Given the description of an element on the screen output the (x, y) to click on. 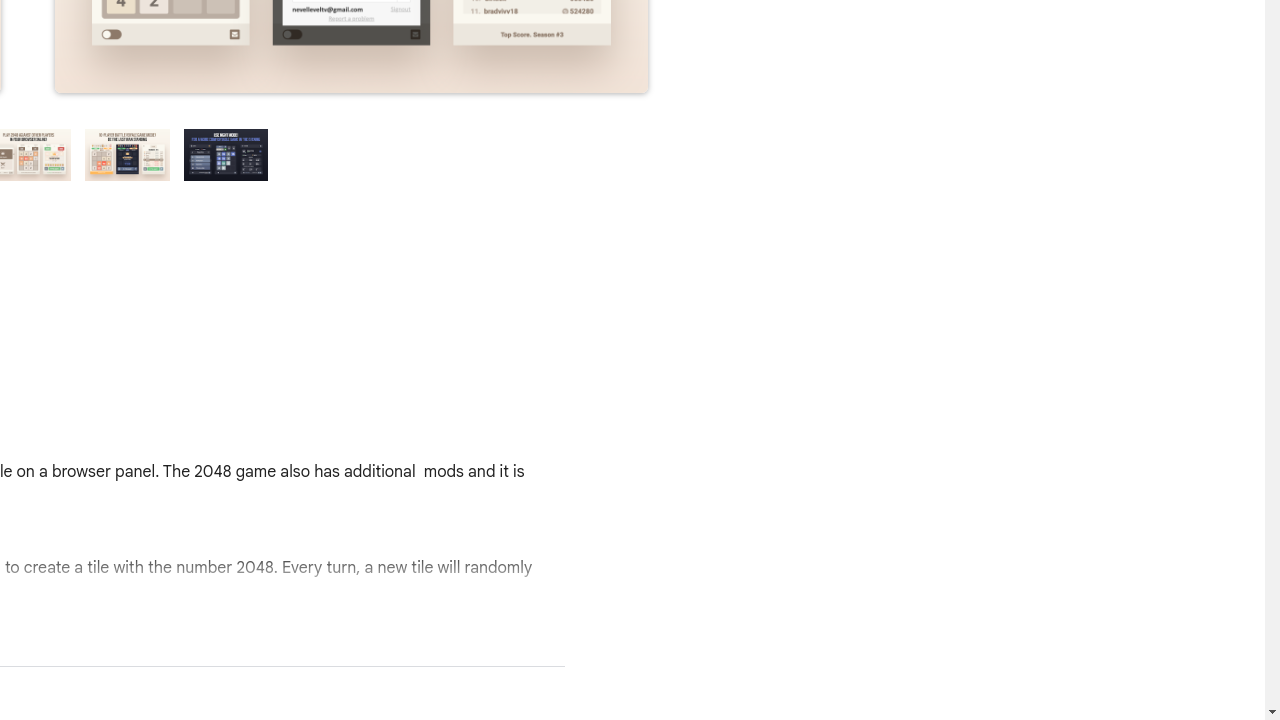
Preview slide 5 Element type: push-button (226, 155)
Preview slide 4 Element type: push-button (127, 155)
